Given the description of an element on the screen output the (x, y) to click on. 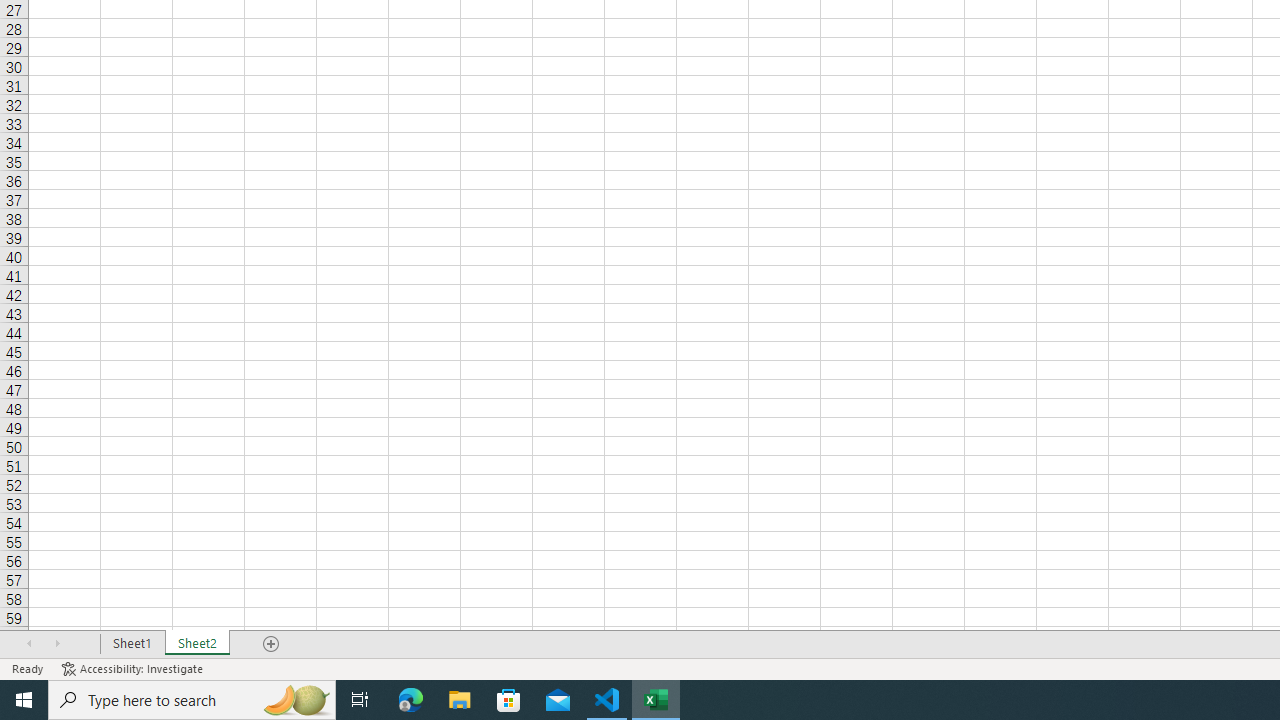
Accessibility Checker Accessibility: Investigate (134, 668)
Sheet2 (197, 644)
